Given the description of an element on the screen output the (x, y) to click on. 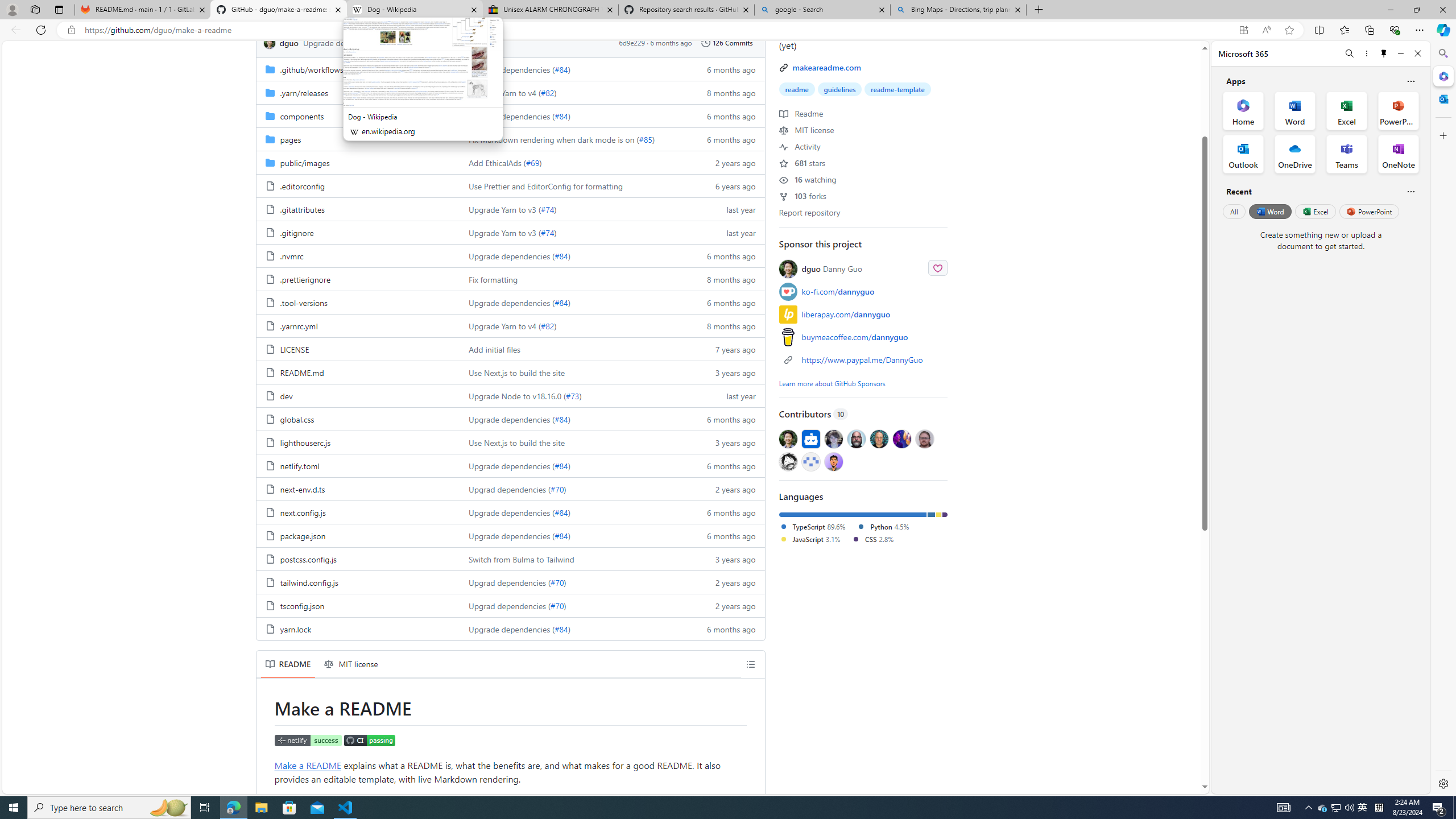
@aranciokov (924, 438)
App bar (728, 29)
